Given the description of an element on the screen output the (x, y) to click on. 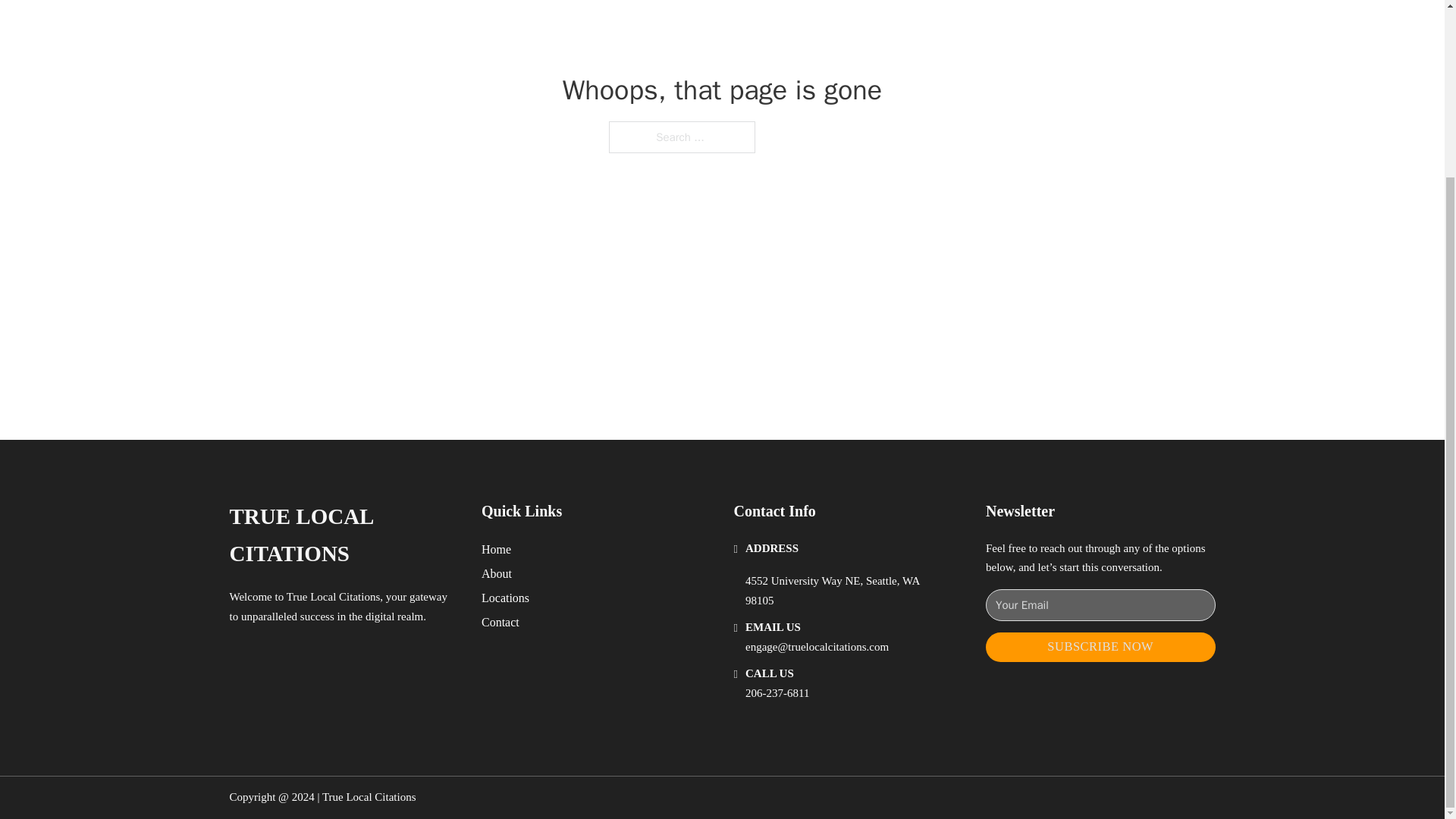
Home (496, 548)
About (496, 573)
SUBSCRIBE NOW (1100, 646)
Contact (500, 621)
TRUE LOCAL CITATIONS (343, 535)
206-237-6811 (777, 693)
Locations (505, 598)
